Given the description of an element on the screen output the (x, y) to click on. 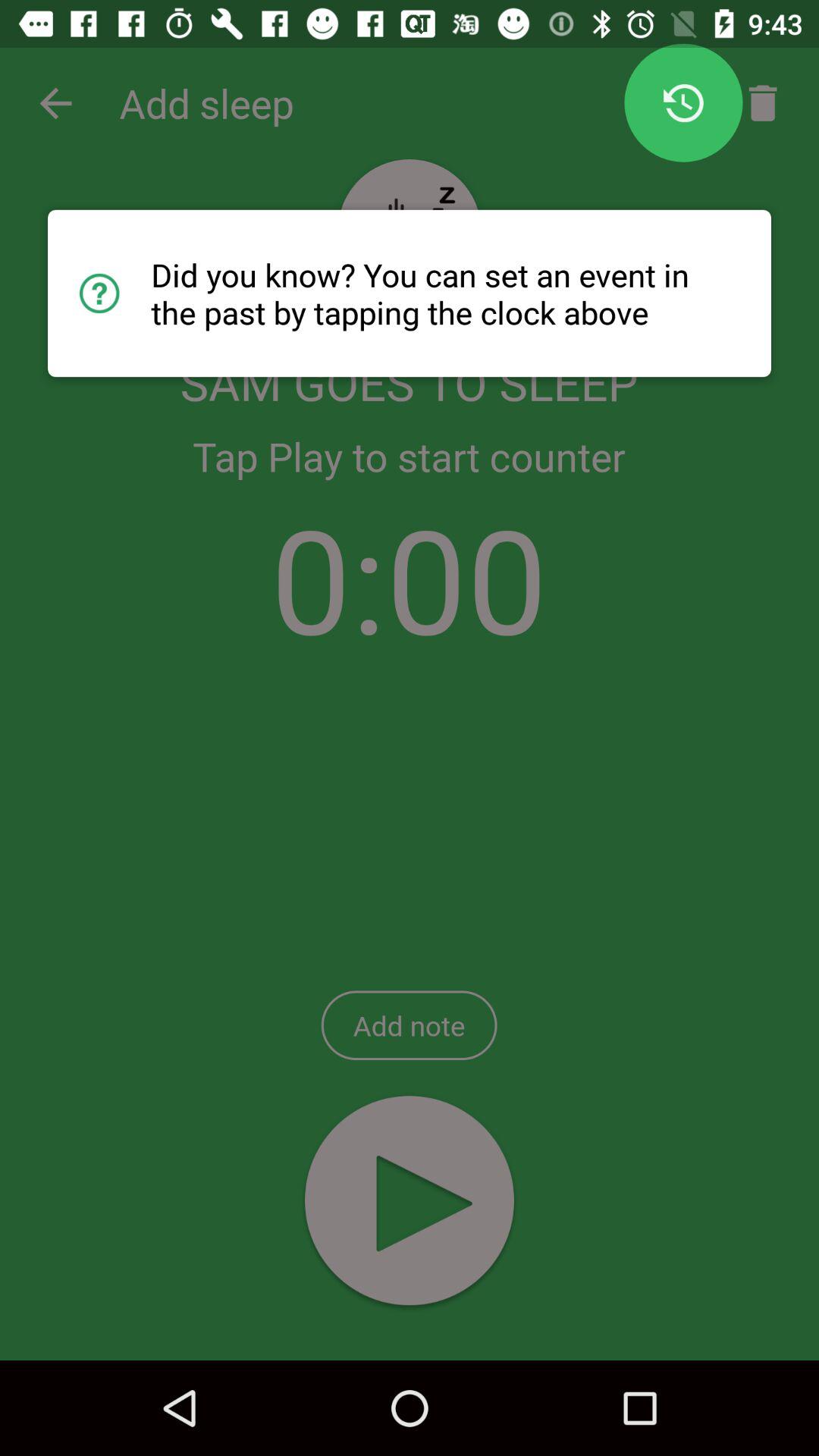
click item to the left of add sleep icon (55, 103)
